Given the description of an element on the screen output the (x, y) to click on. 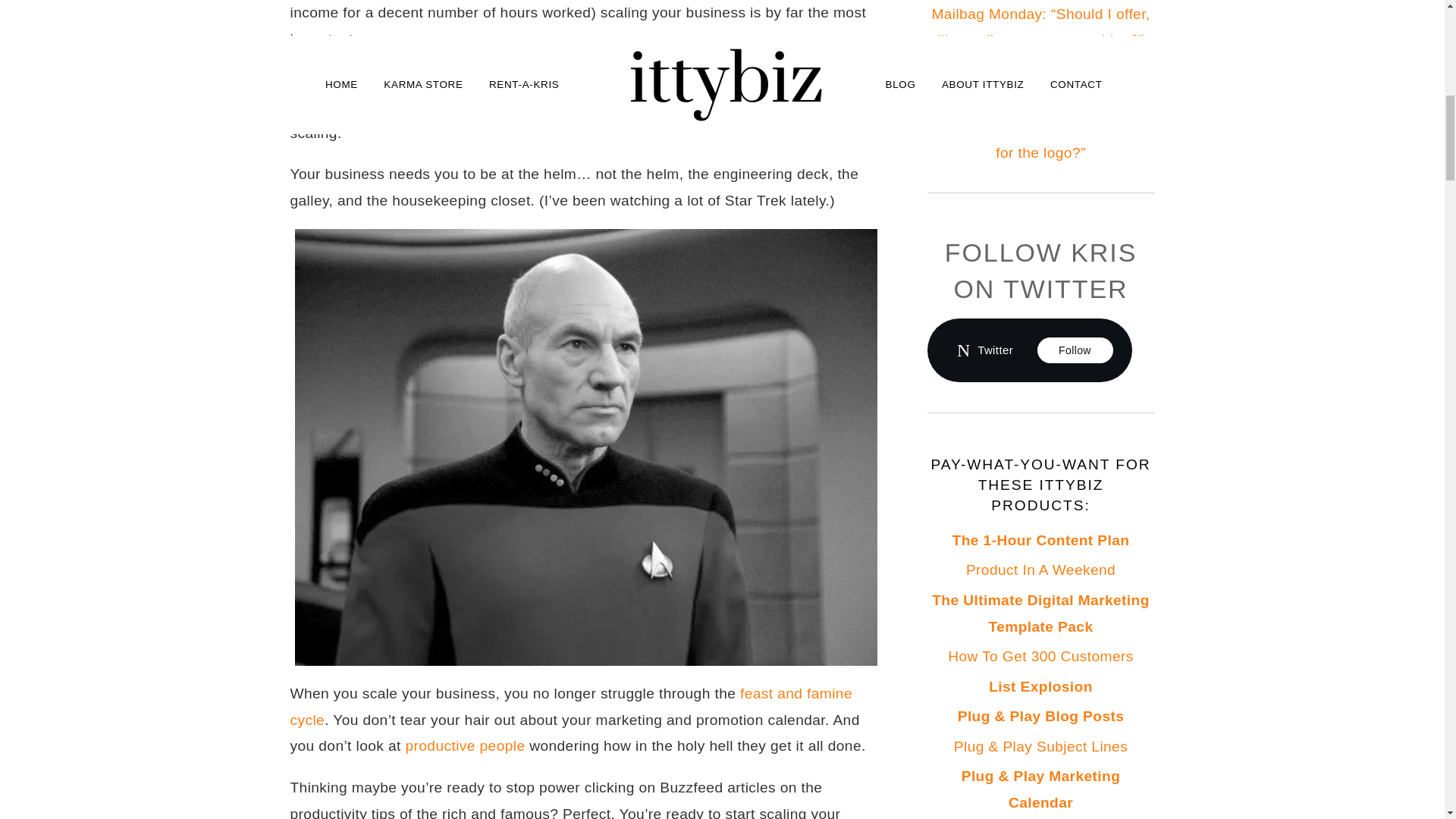
feast and famine cycle (570, 706)
productive people (464, 745)
